Given the description of an element on the screen output the (x, y) to click on. 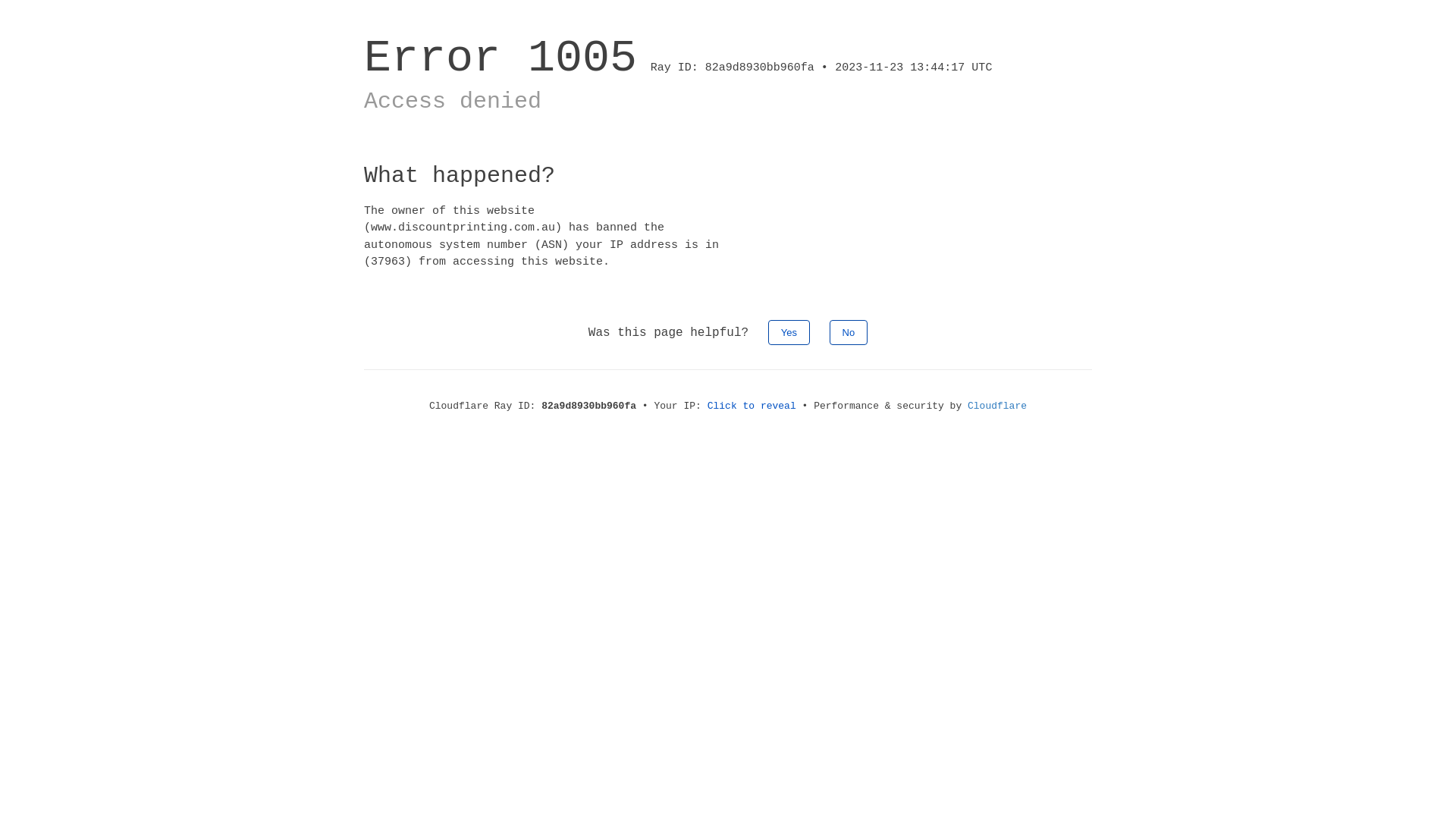
Cloudflare Element type: text (996, 405)
Yes Element type: text (788, 332)
No Element type: text (848, 332)
Click to reveal Element type: text (751, 405)
